Given the description of an element on the screen output the (x, y) to click on. 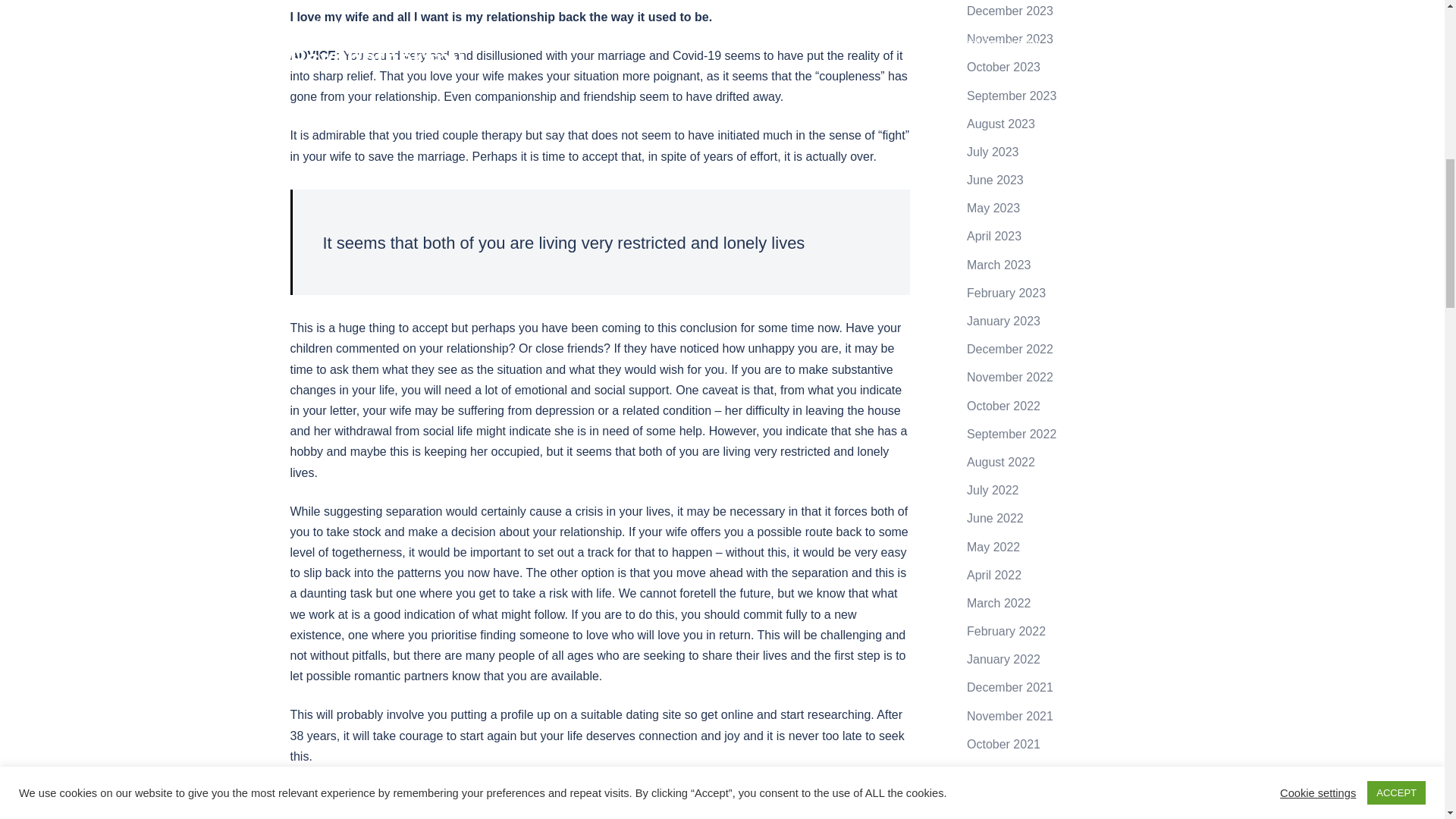
September 2022 (1011, 433)
July 2023 (992, 151)
December 2022 (1009, 349)
January 2023 (1003, 320)
May 2023 (993, 207)
June 2023 (994, 179)
September 2023 (1011, 95)
August 2023 (1000, 123)
February 2023 (1005, 292)
March 2023 (998, 264)
November 2022 (1009, 377)
August 2022 (1000, 461)
October 2022 (1003, 405)
October 2023 (1003, 66)
December 2023 (1009, 10)
